Given the description of an element on the screen output the (x, y) to click on. 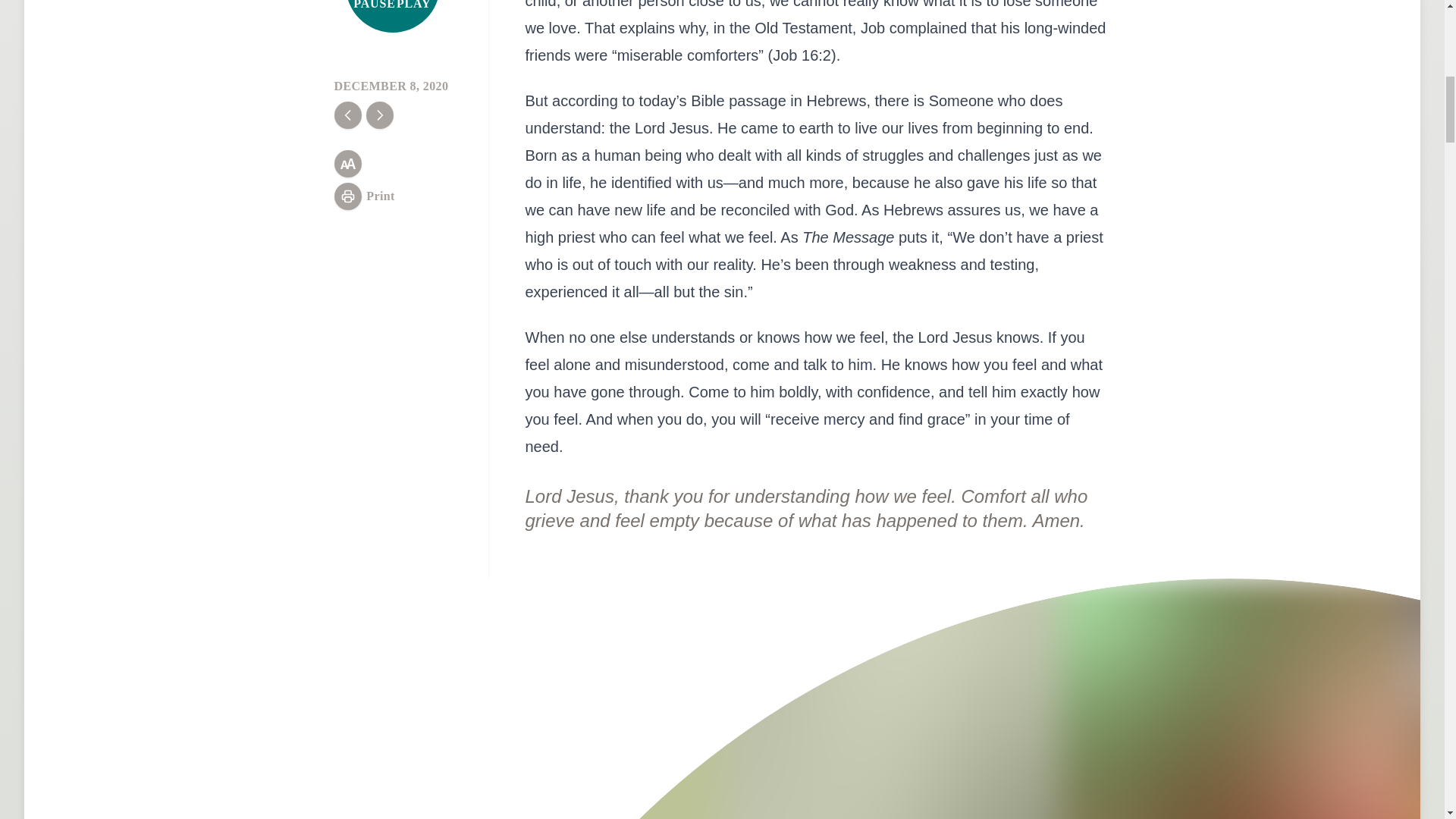
Print (363, 195)
